Given the description of an element on the screen output the (x, y) to click on. 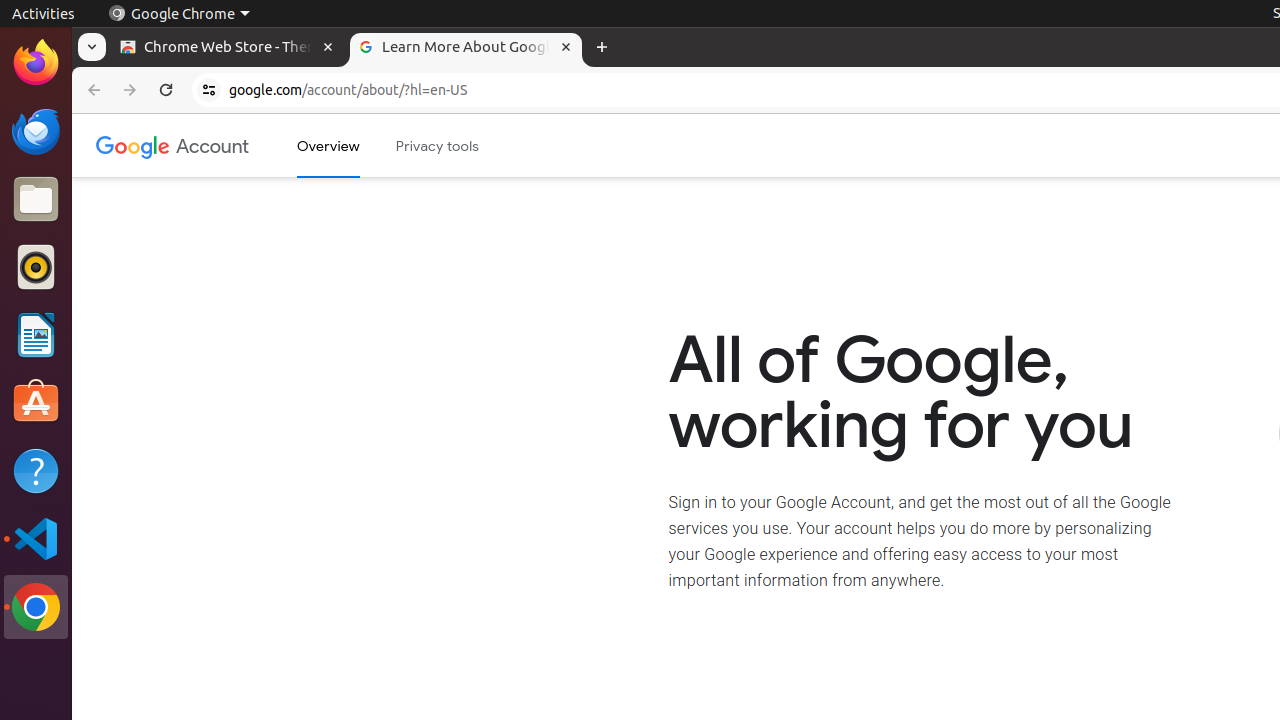
Thunderbird Mail Element type: push-button (36, 131)
Reload Element type: push-button (166, 90)
Firefox Web Browser Element type: push-button (36, 63)
Visual Studio Code Element type: push-button (36, 538)
LibreOffice Writer Element type: push-button (36, 334)
